Given the description of an element on the screen output the (x, y) to click on. 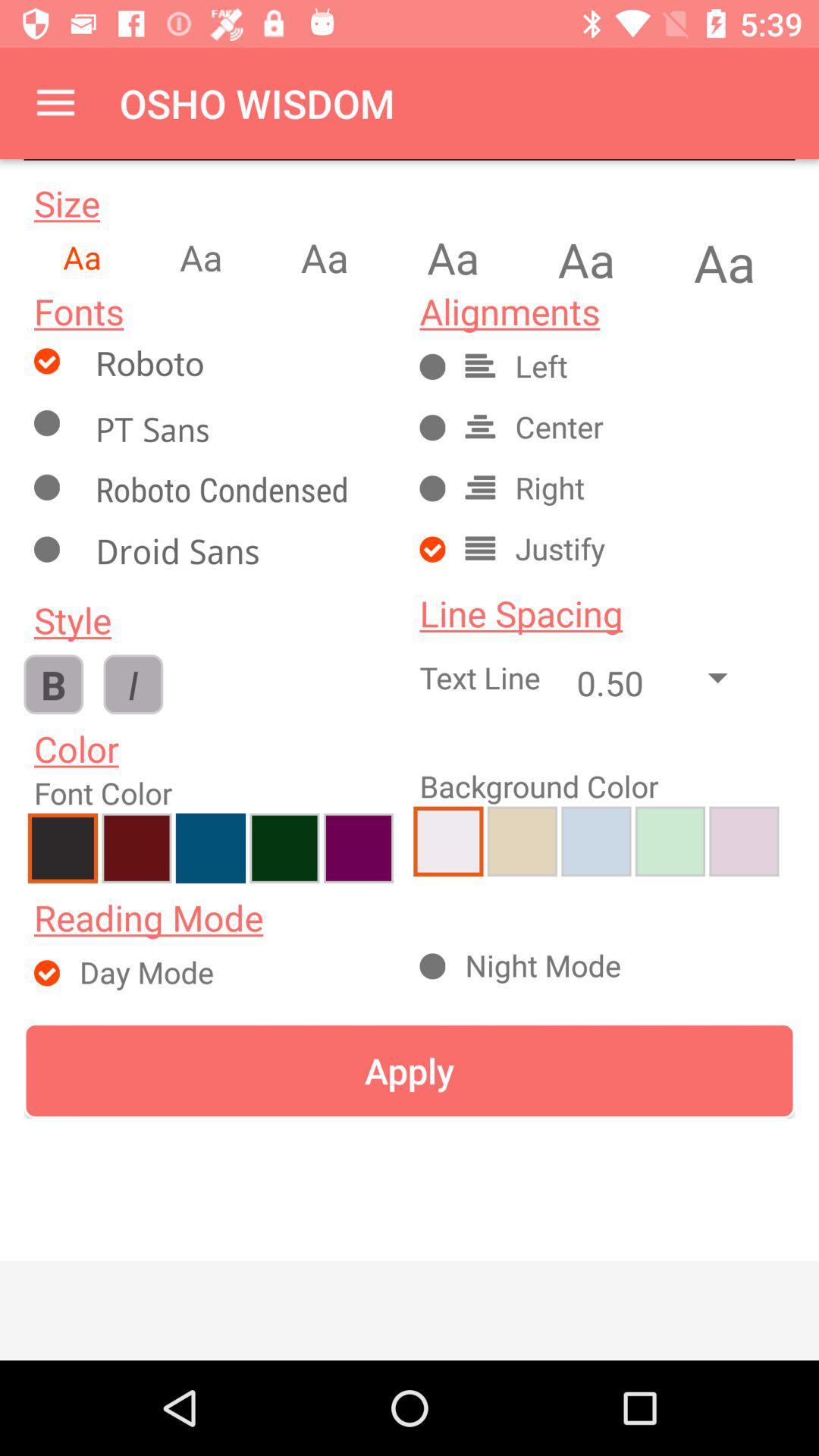
selects background color (448, 841)
